Given the description of an element on the screen output the (x, y) to click on. 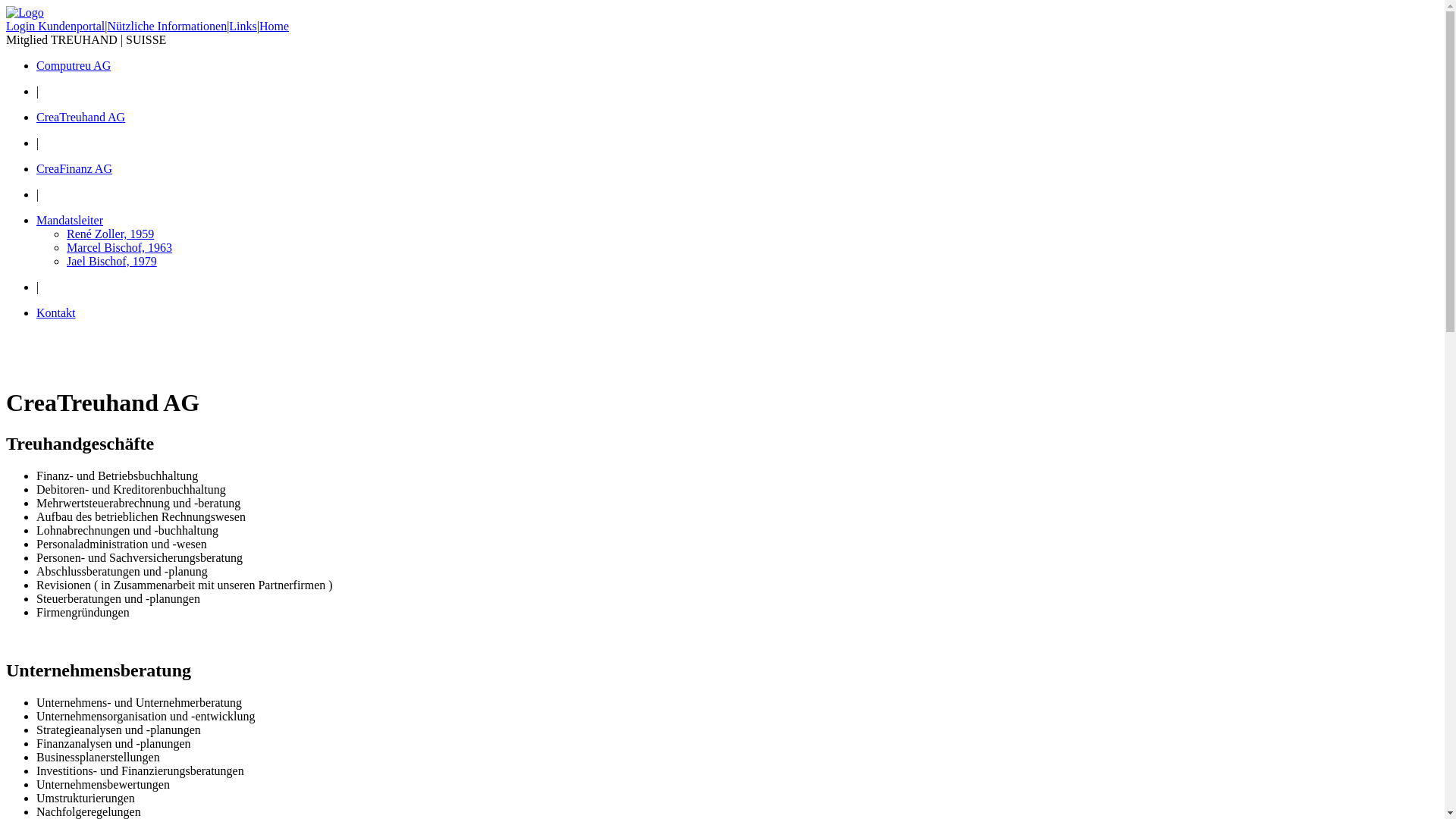
Mandatsleiter Element type: text (69, 219)
Links Element type: text (242, 25)
Kontakt Element type: text (55, 312)
CreaTreuhand AG Element type: text (80, 116)
Jael Bischof, 1979 Element type: text (111, 260)
Marcel Bischof, 1963 Element type: text (119, 247)
Login Kundenportal Element type: text (55, 25)
Computreu AG Element type: text (73, 65)
Home Element type: text (273, 25)
CreaFinanz AG Element type: text (74, 168)
